Given the description of an element on the screen output the (x, y) to click on. 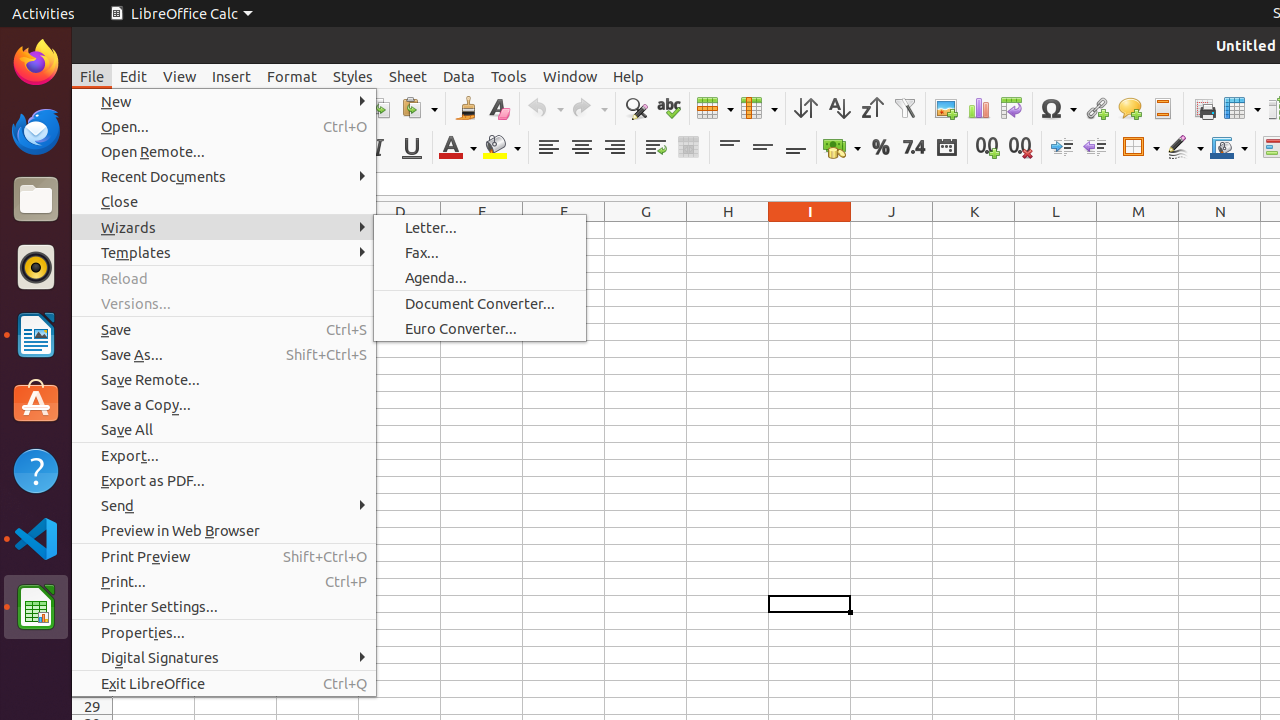
Wizards Element type: menu (224, 227)
Find & Replace Element type: toggle-button (635, 108)
Align Top Element type: push-button (729, 147)
Align Right Element type: push-button (614, 147)
Currency Element type: push-button (842, 147)
